Given the description of an element on the screen output the (x, y) to click on. 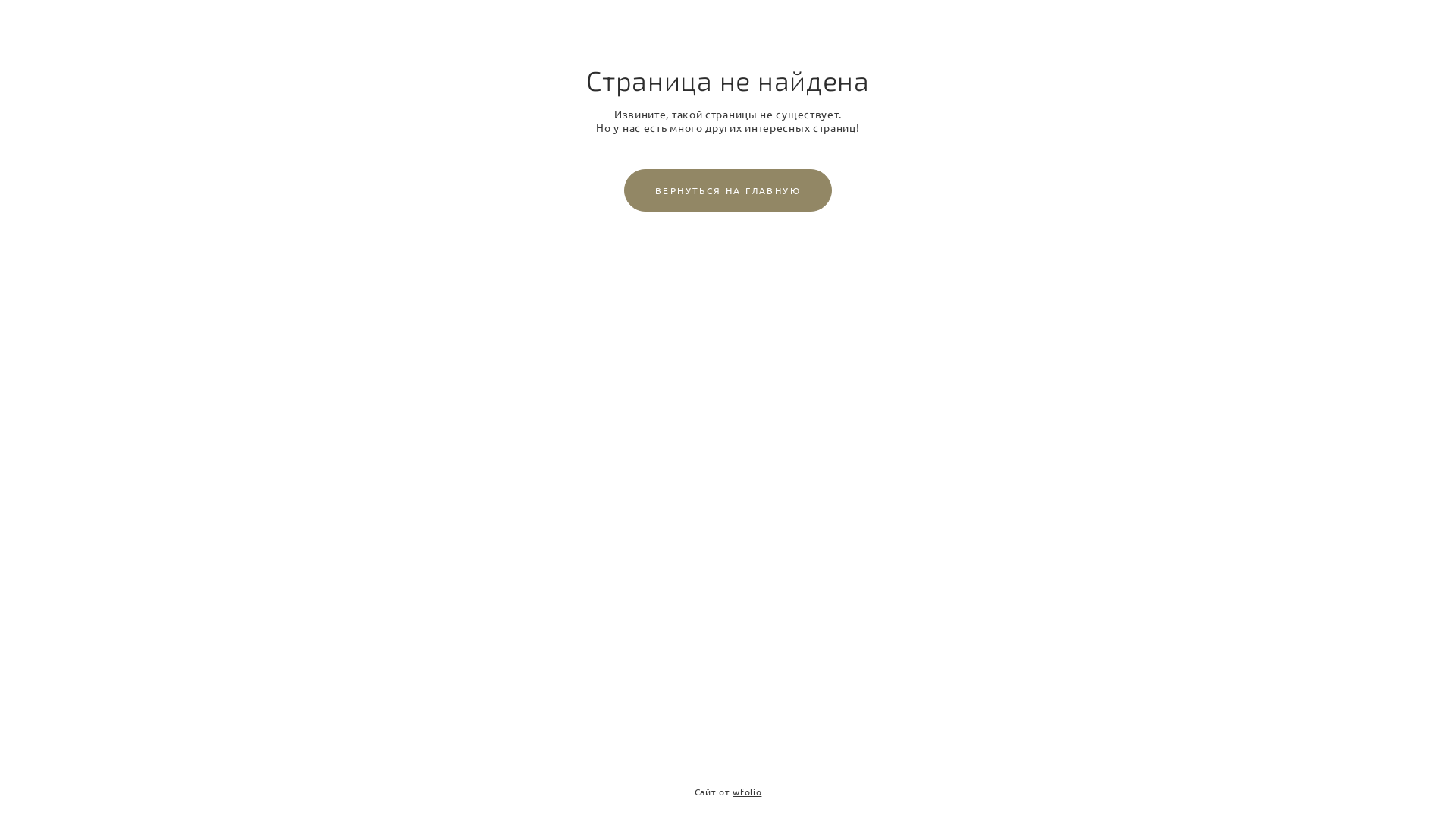
wfolio Element type: text (746, 791)
